Given the description of an element on the screen output the (x, y) to click on. 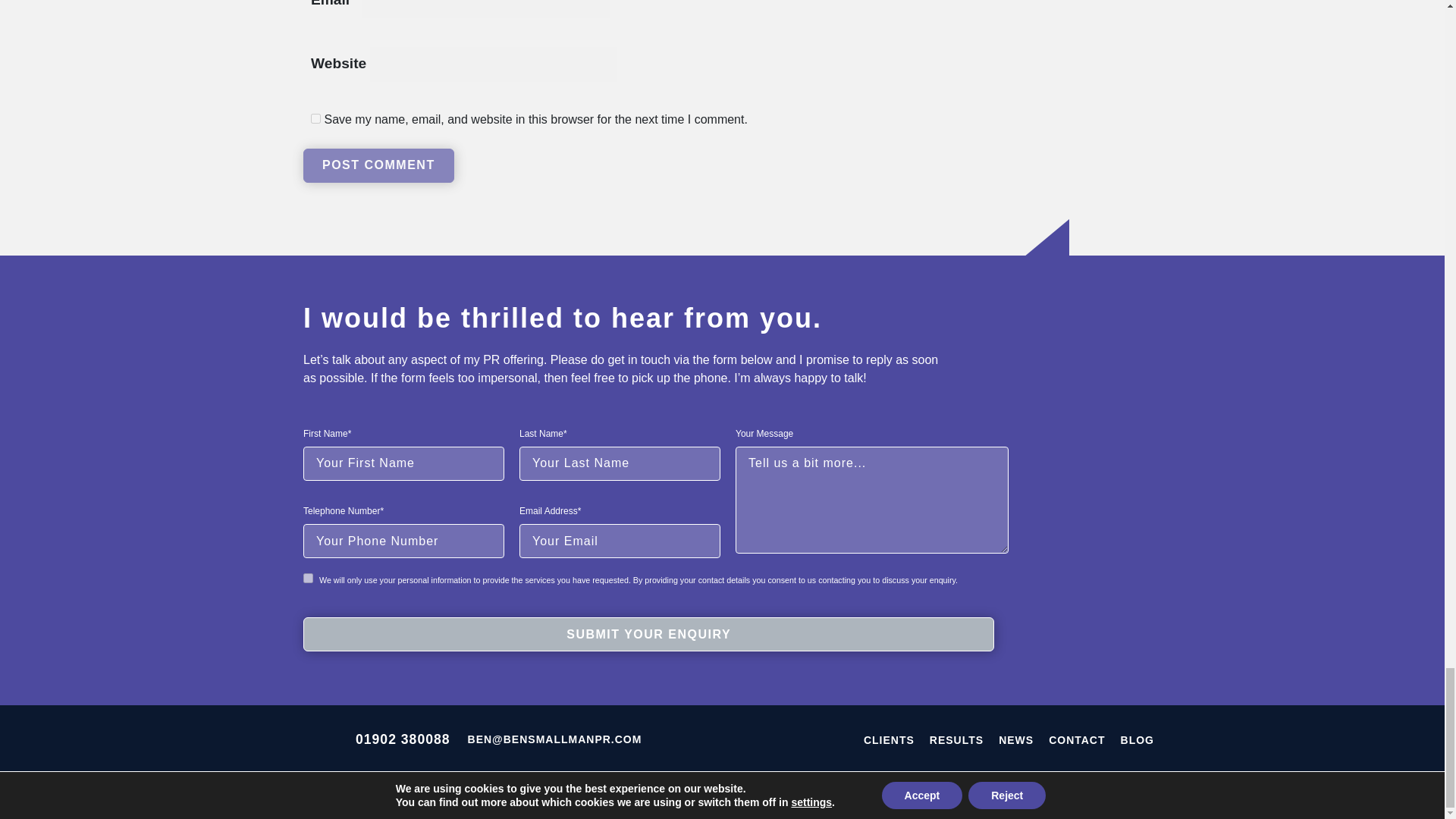
RESULTS (957, 739)
Privacy Policy (498, 793)
CLIENTS (888, 739)
Anne Bode Design (1112, 793)
Submit your enquiry (648, 634)
1 (307, 578)
Submit your enquiry (648, 634)
Post Comment (378, 165)
Post Comment (378, 165)
NEWS (1015, 739)
01902 380088 (402, 739)
BLOG (1137, 739)
CONTACT (1076, 739)
yes (315, 118)
